Given the description of an element on the screen output the (x, y) to click on. 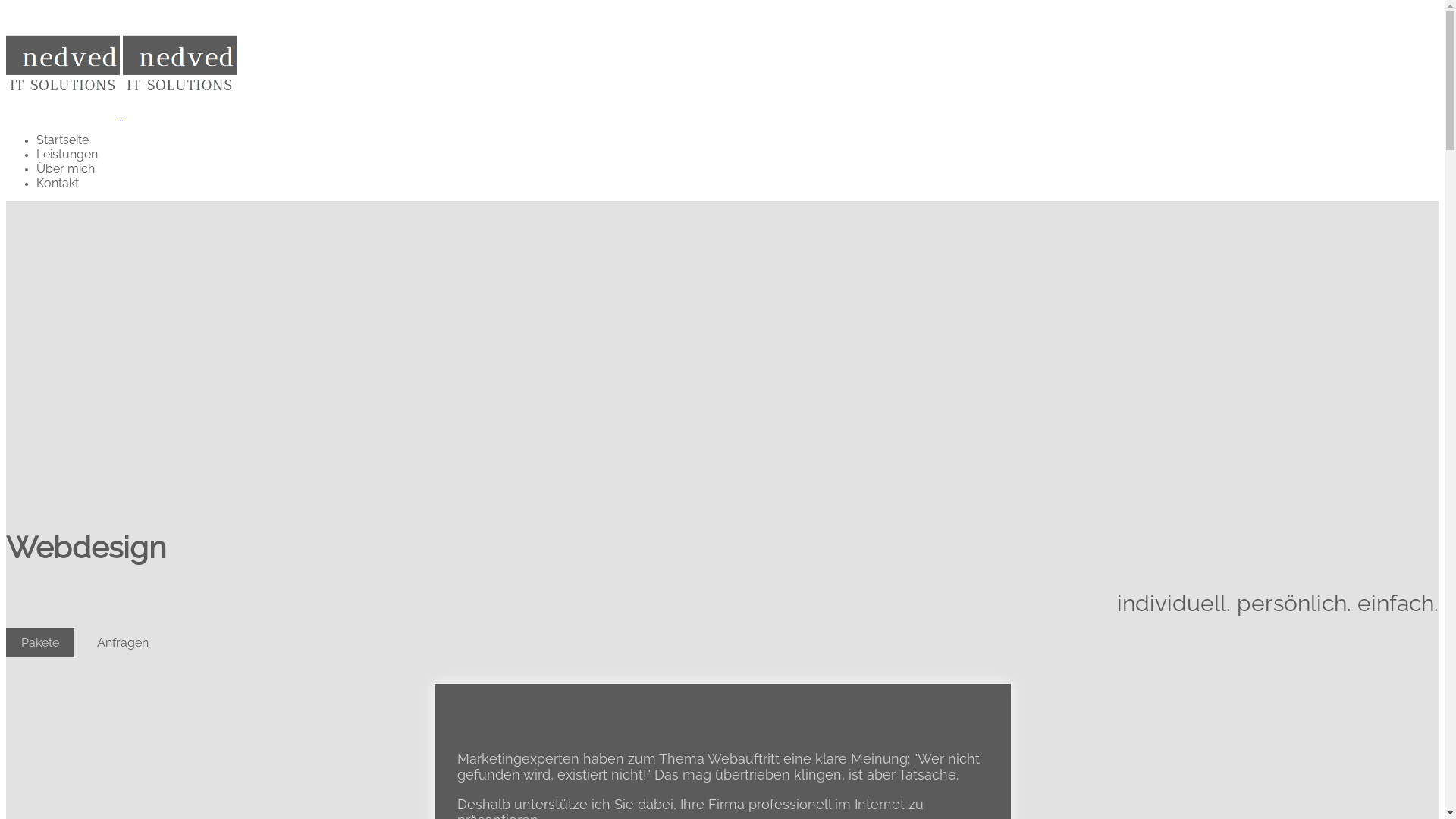
Kontakt Element type: text (57, 182)
Anfragen Element type: text (122, 642)
Leistungen Element type: text (66, 154)
Startseite Element type: text (62, 139)
Pakete Element type: text (40, 642)
